Given the description of an element on the screen output the (x, y) to click on. 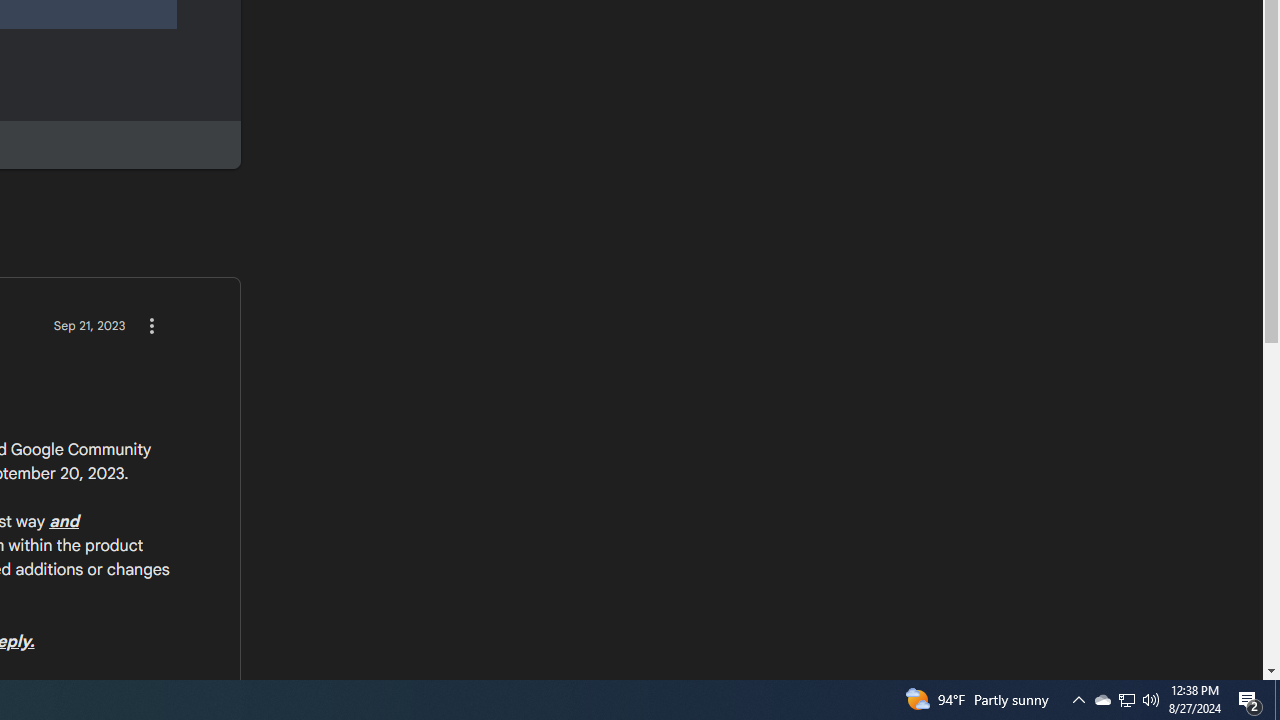
Action items for the reply (151, 325)
Action items for the reply (151, 325)
